Given the description of an element on the screen output the (x, y) to click on. 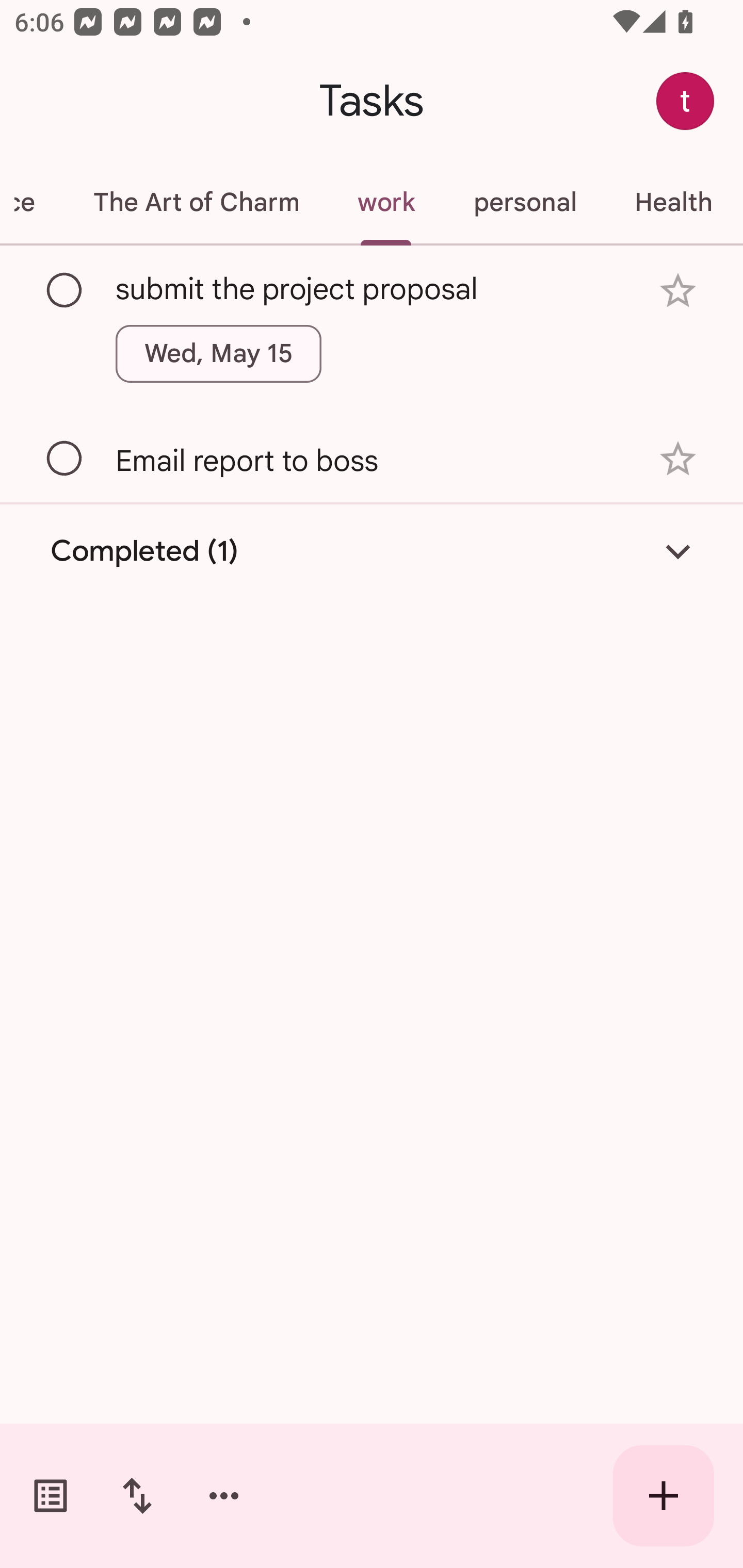
The Art of Charm (195, 202)
personal (524, 202)
Health (673, 202)
Add star (677, 290)
Mark as complete (64, 290)
Wed, May 15 (218, 353)
Add star (677, 458)
Mark as complete (64, 459)
Completed (1) (371, 551)
Switch task lists (50, 1495)
Create new task (663, 1495)
Change sort order (136, 1495)
More options (223, 1495)
